Given the description of an element on the screen output the (x, y) to click on. 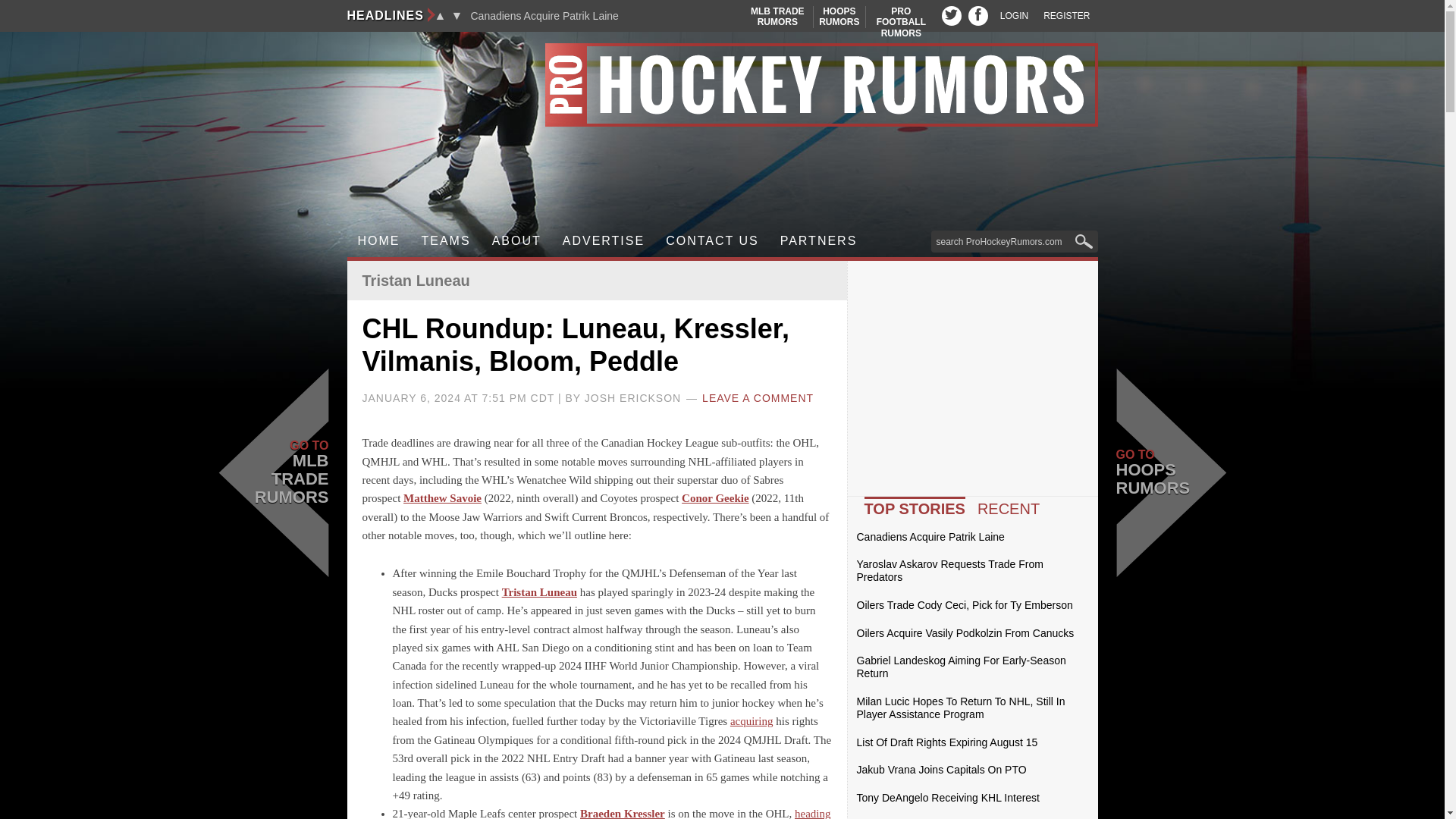
Pro Hockey Rumors (722, 84)
LOGIN (1013, 15)
HOME (378, 241)
Twitter profile (951, 15)
Previous (439, 15)
FB profile (978, 15)
Next (456, 15)
REGISTER (1066, 15)
TEAMS (777, 16)
